Given the description of an element on the screen output the (x, y) to click on. 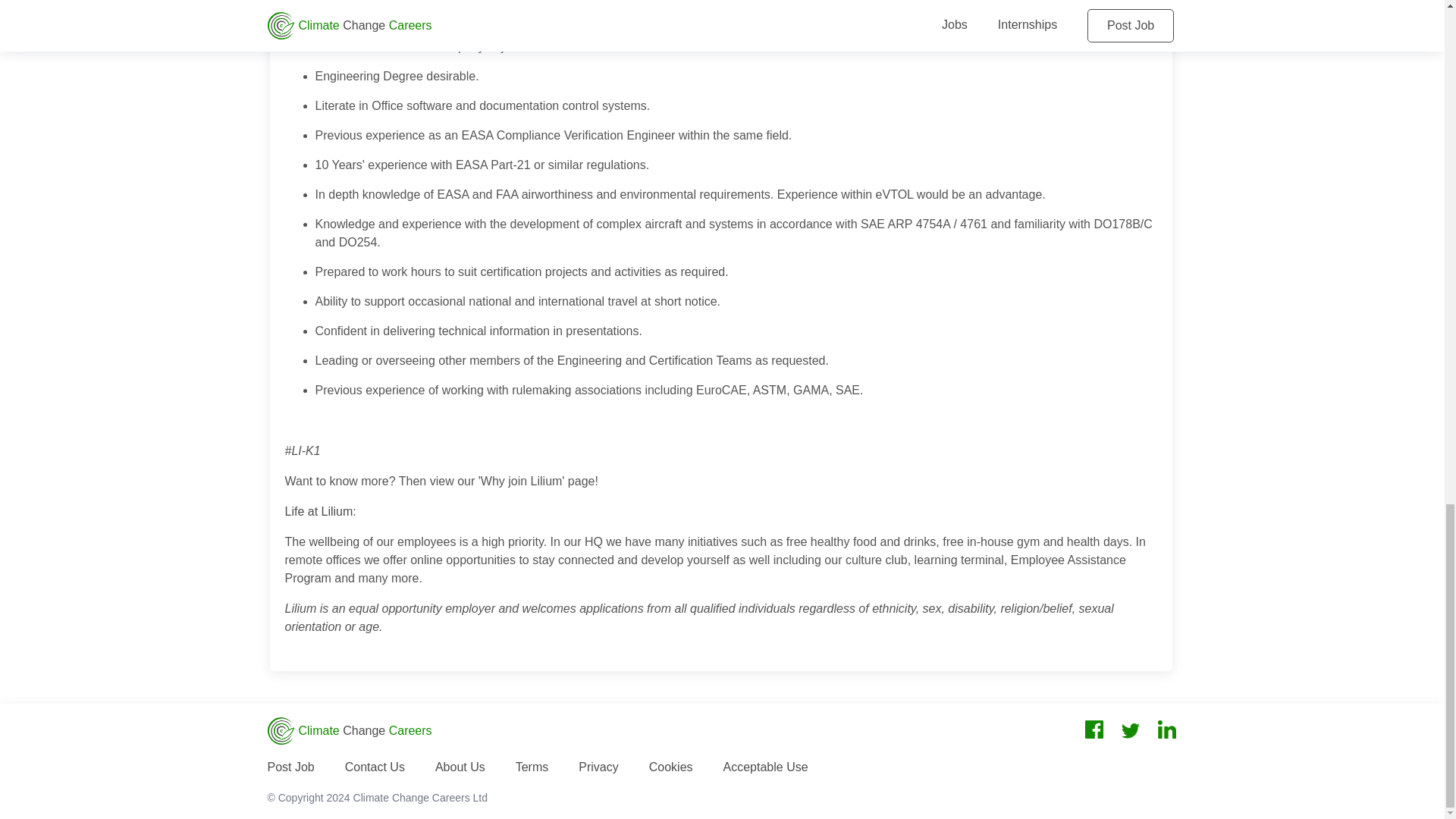
Contact Us (374, 767)
Cookies (671, 767)
Climate Change Careers (348, 730)
Terms (531, 767)
Privacy (597, 767)
About Us (459, 767)
Acceptable Use (765, 767)
Post Job (290, 767)
